Given the description of an element on the screen output the (x, y) to click on. 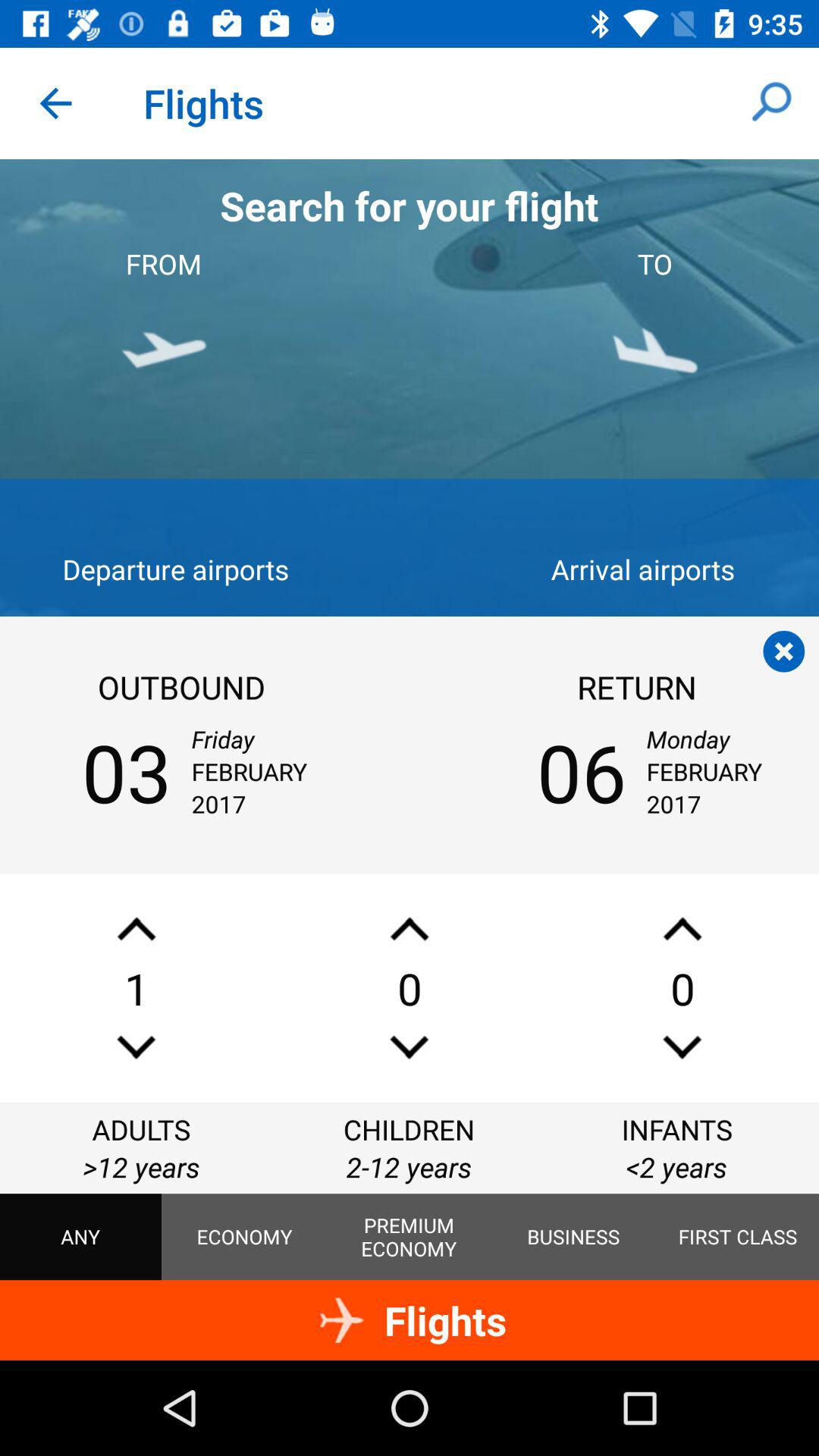
toggle number of children (409, 1047)
